Given the description of an element on the screen output the (x, y) to click on. 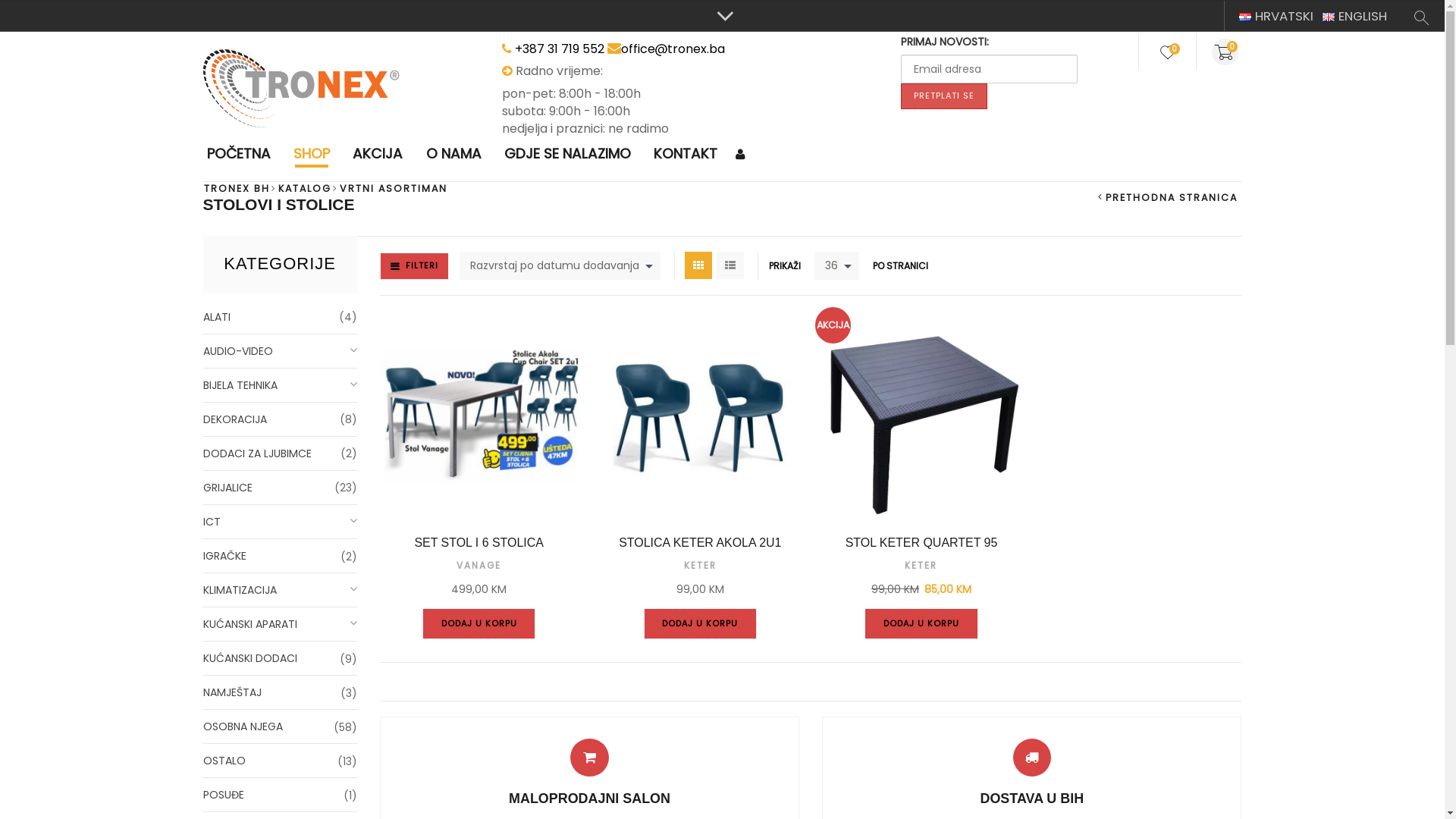
AUDIO-VIDEO Element type: text (280, 351)
DODAJ U KORPU Element type: text (700, 623)
OSTALO Element type: text (280, 760)
Pretplati se Element type: text (943, 96)
AKCIJA Element type: text (377, 154)
HRVATSKI Element type: text (1276, 15)
KETER Element type: text (920, 565)
DODAJ U KORPU Element type: text (921, 623)
VANAGE Element type: text (478, 565)
KATALOG Element type: text (304, 188)
ALATI Element type: text (280, 317)
DODACI ZA LJUBIMCE Element type: text (280, 453)
KONTAKT Element type: text (685, 154)
0 Element type: text (1227, 51)
English Element type: hover (1328, 16)
DODAJ U KORPU Element type: text (479, 623)
O NAMA Element type: text (453, 154)
Hrvatski Element type: hover (1245, 16)
ACCOUNT Element type: text (742, 154)
FILTERI Element type: text (413, 265)
STOLICA KETER AKOLA 2U1 Element type: text (699, 543)
PRETHODNA STRANICA Element type: text (1168, 197)
SET STOL I 6 STOLICA Element type: text (478, 543)
SHOP Element type: text (311, 154)
List Element type: text (729, 265)
GDJE SE NALAZIMO Element type: text (566, 154)
ICT Element type: text (280, 522)
KLIMATIZACIJA Element type: text (280, 590)
ENGLISH Element type: text (1354, 15)
VRTNI ASORTIMAN Element type: text (392, 188)
GRIJALICE Element type: text (280, 487)
KETER Element type: text (700, 565)
DEKORACIJA Element type: text (280, 419)
TRONEX BH Element type: text (236, 188)
STOL KETER QUARTET 95 Element type: text (921, 543)
BIJELA TEHNIKA Element type: text (280, 385)
Grid Element type: text (698, 265)
OSOBNA NJEGA Element type: text (280, 726)
